Given the description of an element on the screen output the (x, y) to click on. 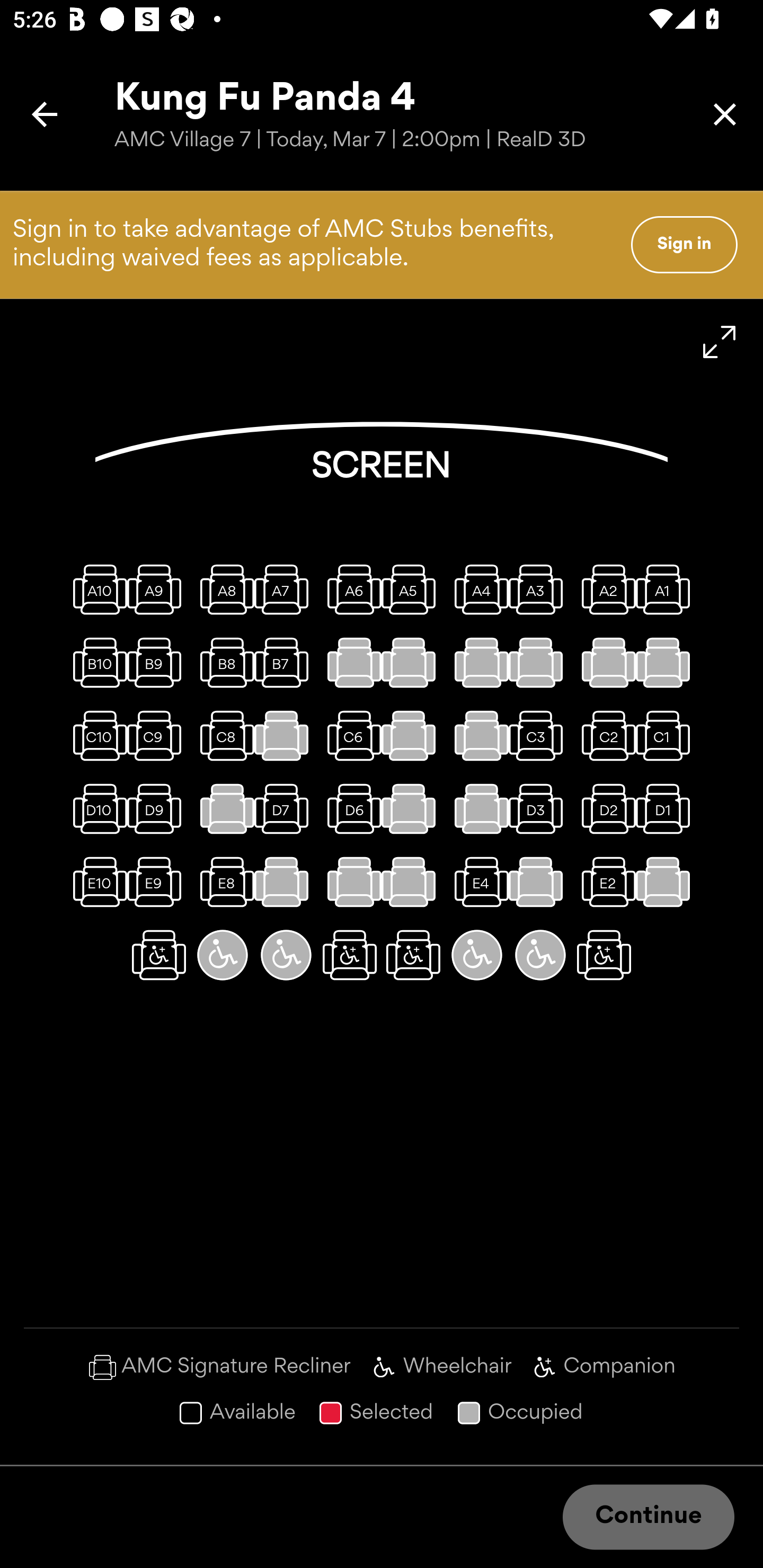
Back (44, 114)
Close (724, 114)
Sign in (684, 244)
Zoom (719, 342)
A10, Regular seat, available (95, 589)
A9, Regular seat, available (158, 589)
A8, Regular seat, available (222, 589)
A7, Regular seat, available (286, 589)
A6, Regular seat, available (349, 589)
A5, Regular seat, available (412, 589)
A4, Regular seat, available (476, 589)
A3, Regular seat, available (540, 589)
A2, Regular seat, available (603, 589)
A1, Regular seat, available (667, 589)
B10, Regular seat, available (95, 662)
B9, Regular seat, available (158, 662)
B8, Regular seat, available (222, 662)
B7, Regular seat, available (286, 662)
C10, Regular seat, available (95, 736)
C9, Regular seat, available (158, 736)
C8, Regular seat, available (222, 736)
C6, Regular seat, available (349, 736)
C3, Regular seat, available (540, 736)
C2, Regular seat, available (603, 736)
C1, Regular seat, available (667, 736)
D10, Regular seat, available (95, 809)
D9, Regular seat, available (158, 809)
D7, Regular seat, available (286, 809)
D6, Regular seat, available (349, 809)
D3, Regular seat, available (540, 809)
D2, Regular seat, available (603, 809)
D1, Regular seat, available (667, 809)
E10, Regular seat, available (95, 881)
E9, Regular seat, available (158, 881)
E8, Regular seat, available (222, 881)
E4, Regular seat, available (476, 881)
E2, Regular seat, available (603, 881)
F8, Wheelchair companion seat, available (158, 954)
F5, Wheelchair companion seat, available (349, 954)
F4, Wheelchair companion seat, available (412, 954)
F1, Wheelchair companion seat, available (603, 954)
